Given the description of an element on the screen output the (x, y) to click on. 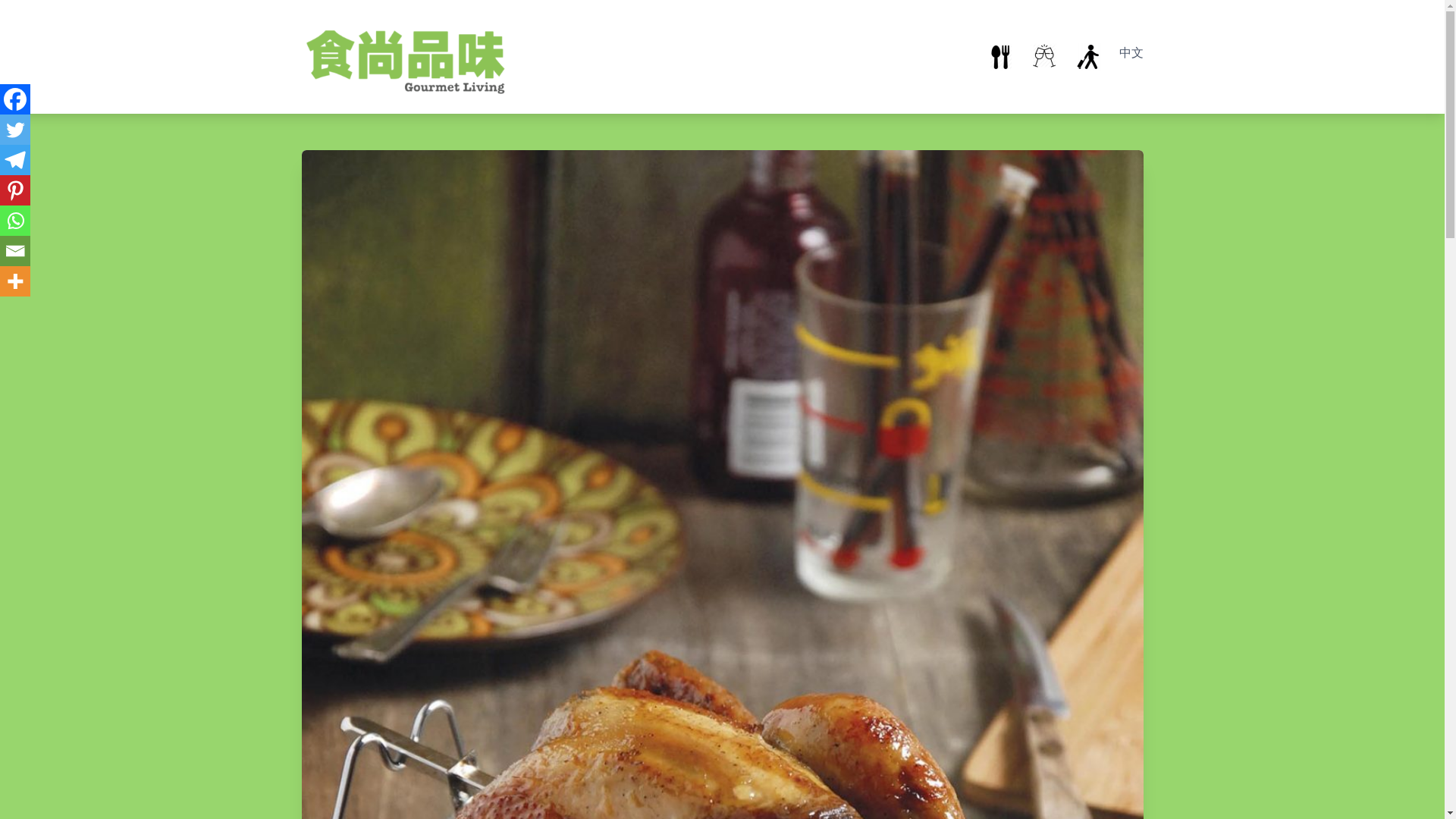
More (15, 281)
Whatsapp (15, 220)
Email (15, 250)
Facebook (15, 99)
Twitter (15, 129)
Telegram (15, 159)
Pinterest (15, 190)
